Given the description of an element on the screen output the (x, y) to click on. 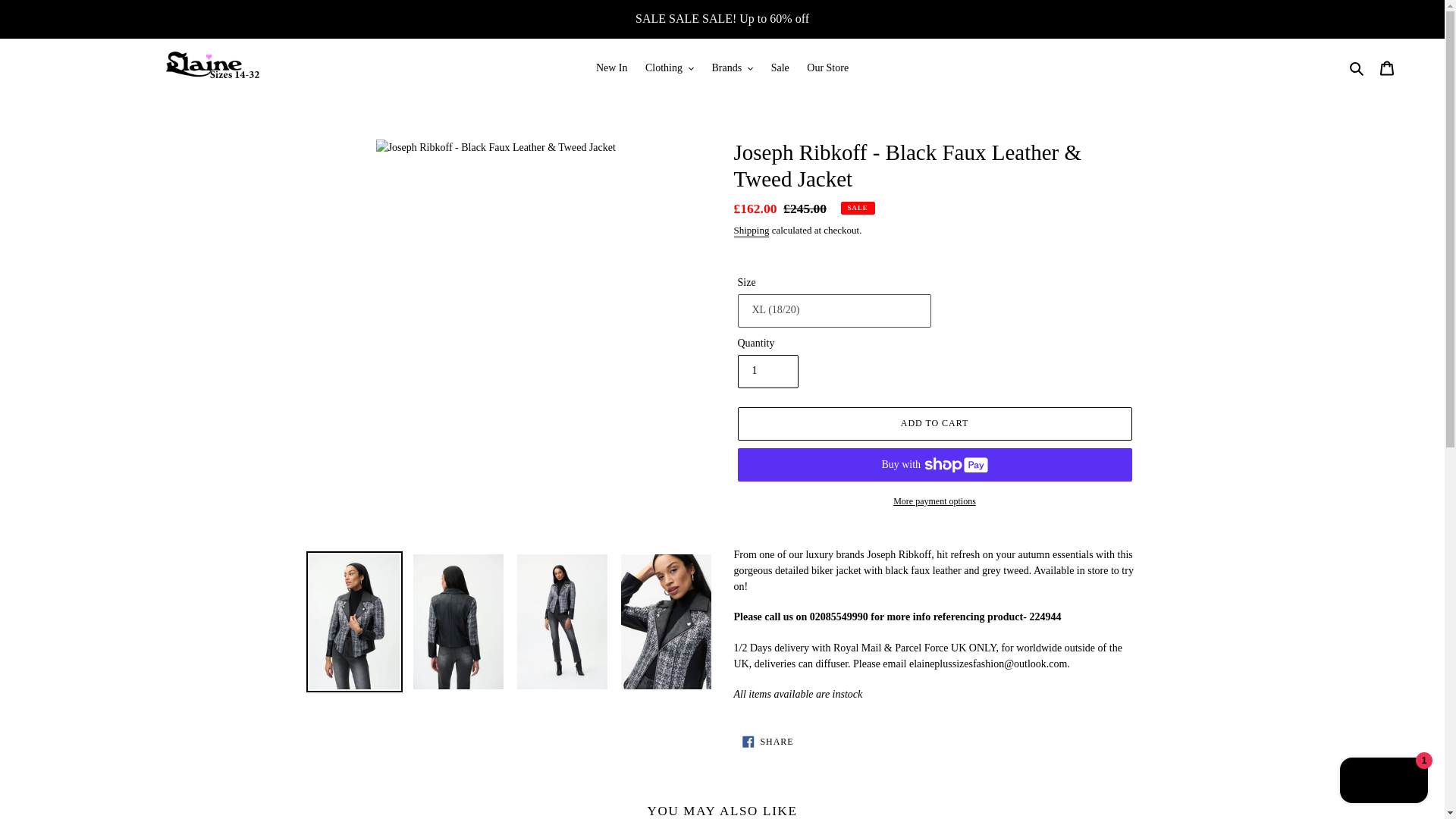
Search (1357, 67)
Sale (779, 67)
Cart (1387, 68)
Shopify online store chat (1383, 781)
Brands (731, 67)
New In (611, 67)
Clothing (669, 67)
Our Store (827, 67)
1 (766, 371)
